Given the description of an element on the screen output the (x, y) to click on. 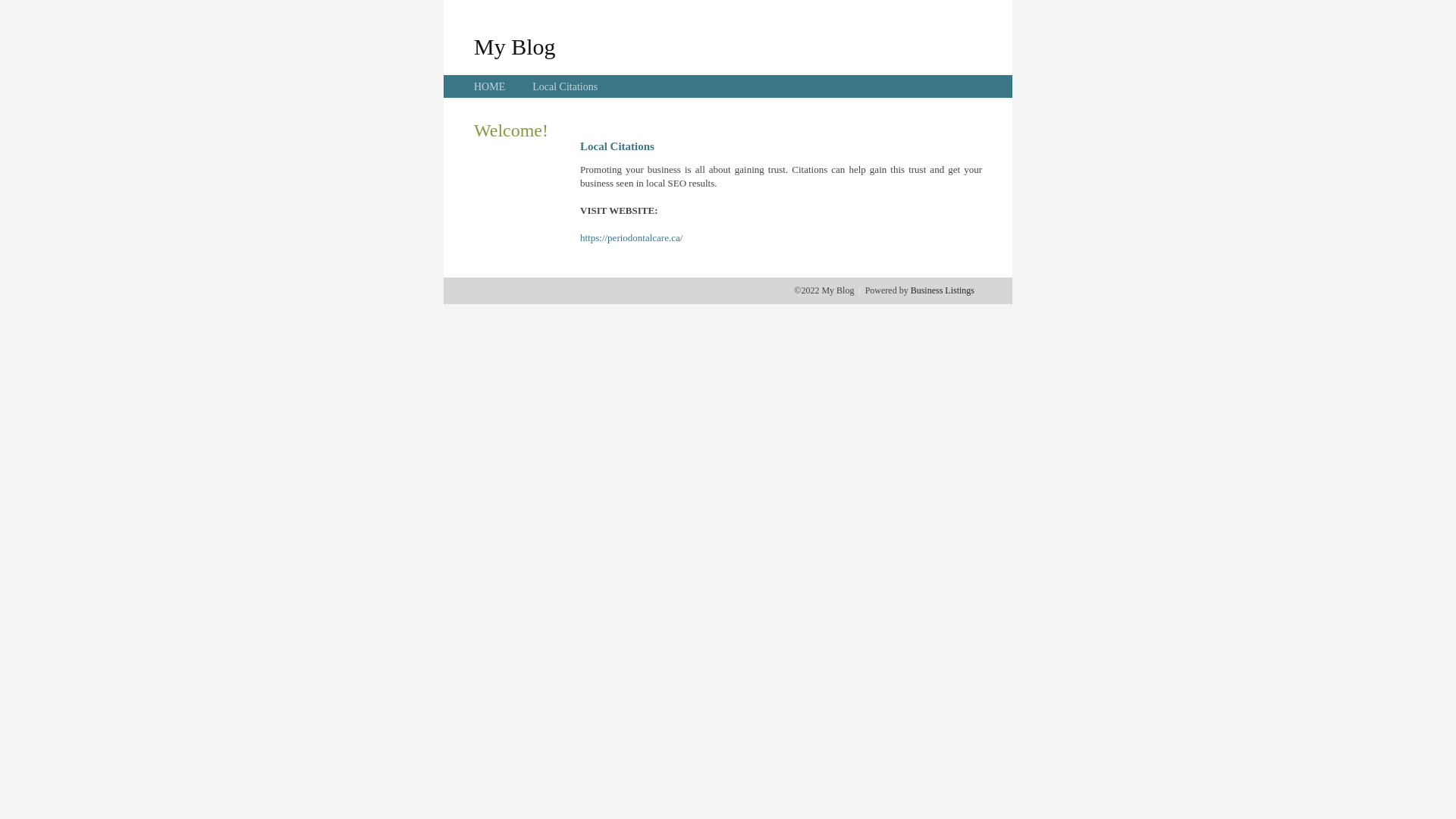
HOME Element type: text (489, 86)
Local Citations Element type: text (564, 86)
https://periodontalcare.ca/ Element type: text (631, 237)
Business Listings Element type: text (942, 290)
My Blog Element type: text (514, 46)
